Given the description of an element on the screen output the (x, y) to click on. 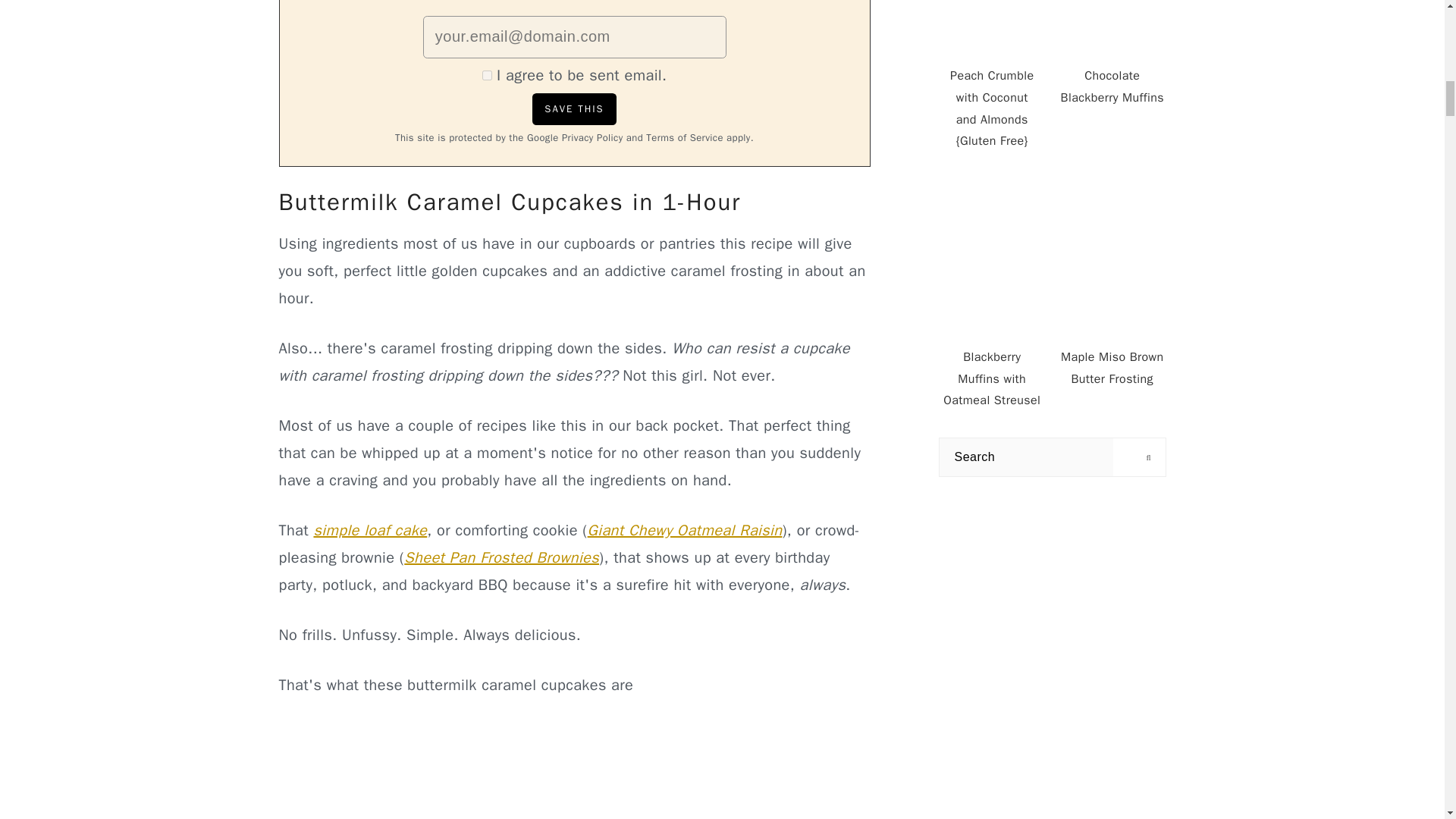
simple loaf cake (369, 529)
Save This (573, 109)
1 (486, 75)
Sheet Pan Frosted Brownies (501, 557)
Save This (573, 109)
Giant Chewy Oatmeal Raisin (685, 529)
